Given the description of an element on the screen output the (x, y) to click on. 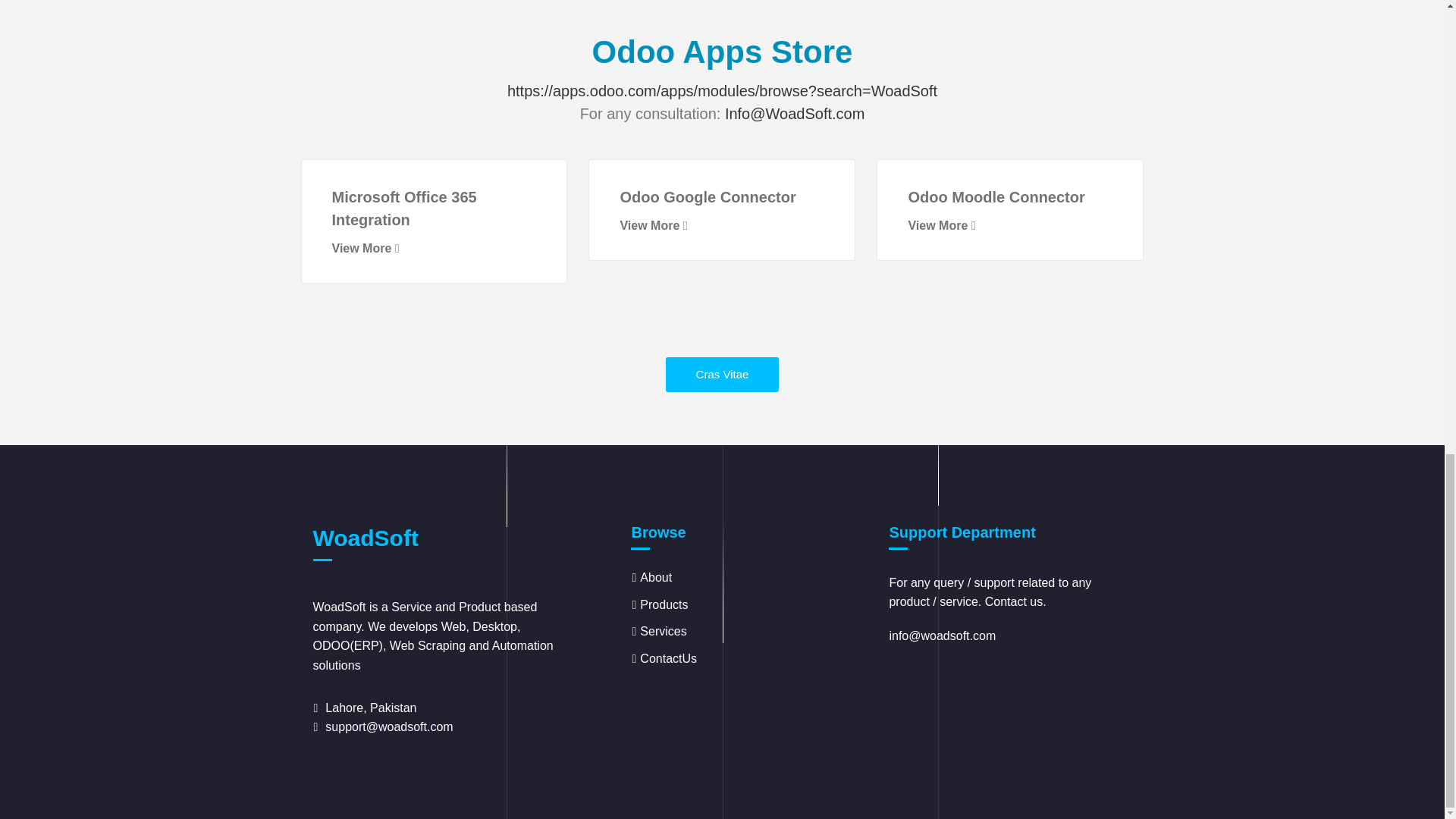
About (655, 576)
Products (663, 604)
Services (662, 631)
ContactUs (668, 658)
Microsoft Office 365 Integration (404, 208)
Odoo Google Connector (707, 197)
View More (941, 225)
Odoo Moodle Connector (995, 197)
Cras Vitae (721, 374)
View More (653, 225)
